Given the description of an element on the screen output the (x, y) to click on. 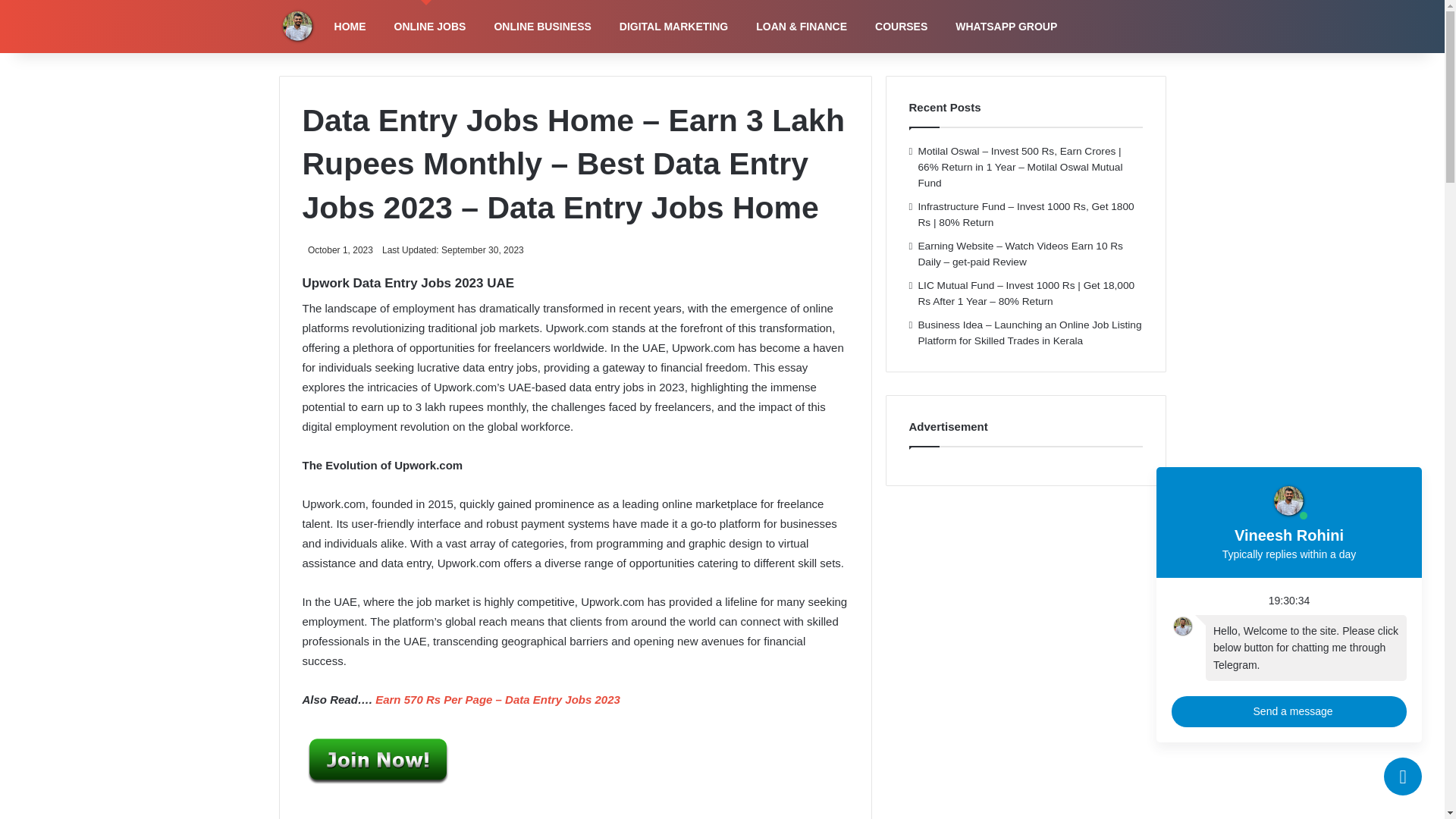
WHATSAPP GROUP (1002, 26)
ONLINE JOBS (427, 26)
COURSES (897, 26)
Vineesh Rohini (298, 26)
DIGITAL MARKETING (670, 26)
ONLINE BUSINESS (538, 26)
HOME (347, 26)
